Given the description of an element on the screen output the (x, y) to click on. 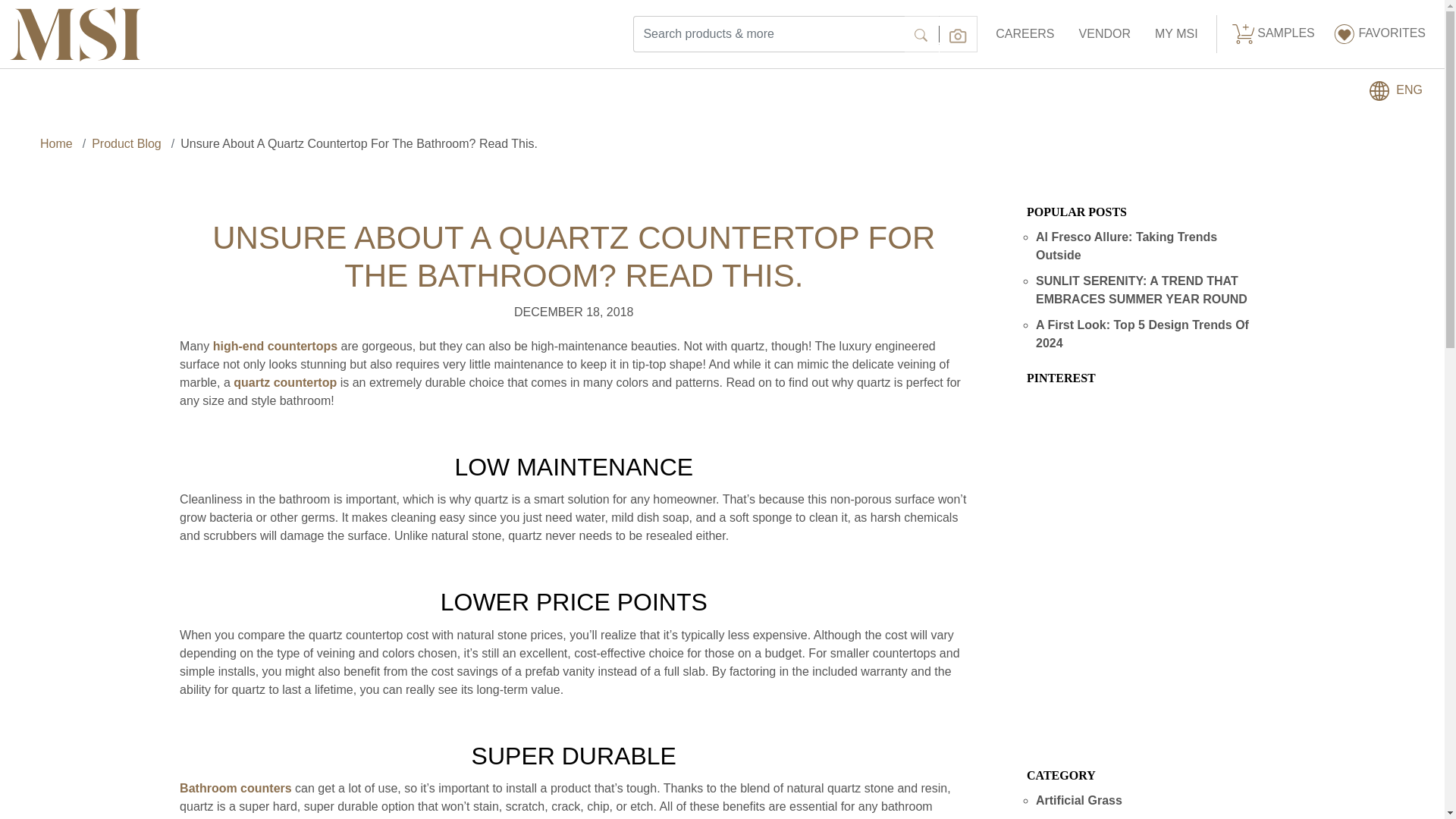
MY MSI (1175, 33)
FAVORITES (1379, 34)
CAREERS (1024, 33)
SAMPLES (1272, 34)
VENDOR (1104, 33)
Msi Logo (75, 34)
